Given the description of an element on the screen output the (x, y) to click on. 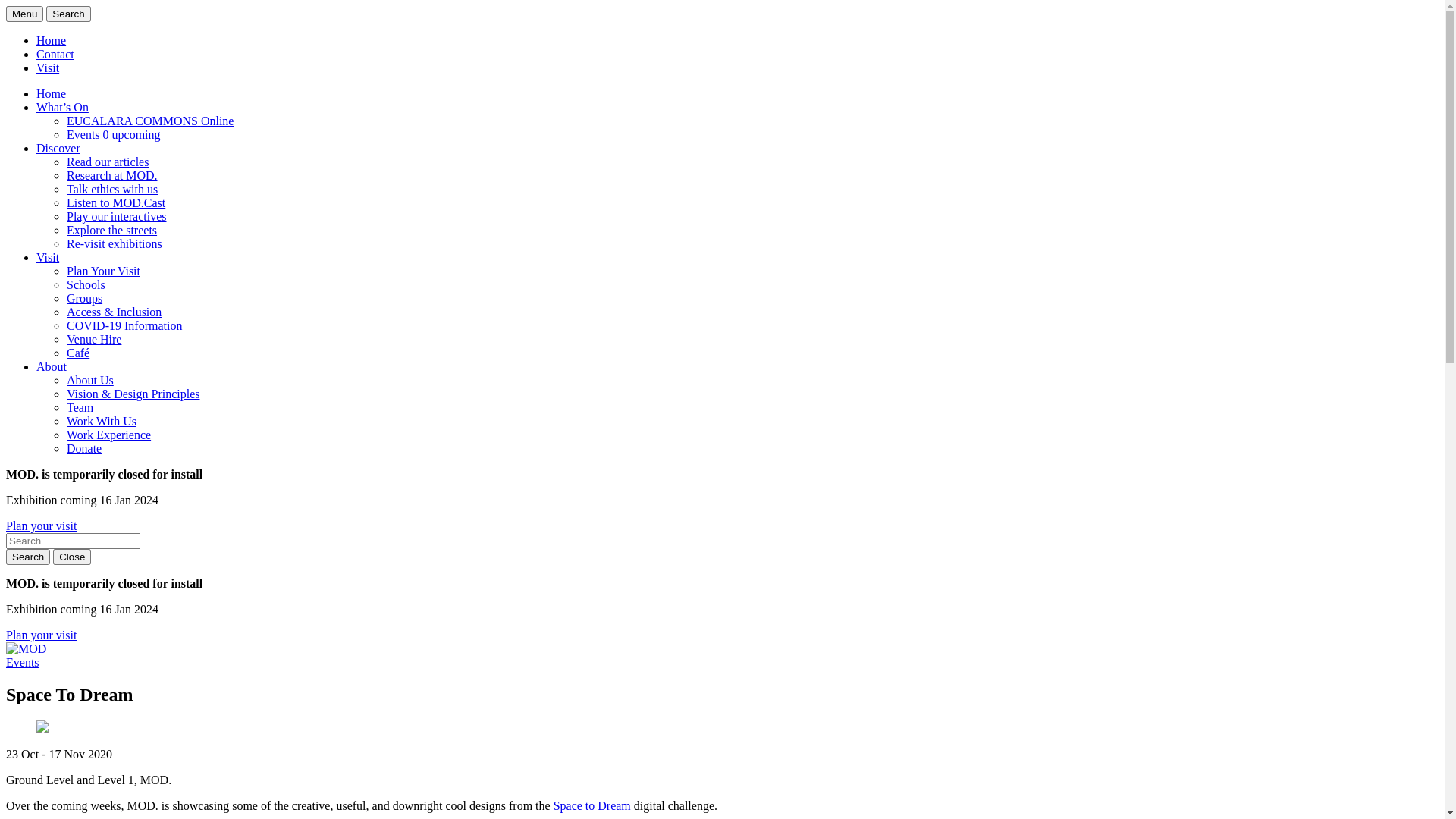
Close Element type: text (72, 556)
Venue Hire Element type: text (93, 338)
Visit Element type: text (47, 257)
Plan your visit Element type: text (41, 525)
Groups Element type: text (84, 297)
About Us Element type: text (89, 379)
Home Element type: text (50, 93)
Play our interactives Element type: text (116, 216)
Read our articles Element type: text (107, 161)
EUCALARA COMMONS Online Element type: text (149, 120)
Donate Element type: text (83, 448)
Schools Element type: text (85, 284)
Discover Element type: text (58, 147)
Re-visit exhibitions Element type: text (114, 243)
Home Element type: text (50, 40)
Contact Element type: text (55, 53)
About Element type: text (51, 366)
Listen to MOD.Cast Element type: text (115, 202)
Vision & Design Principles Element type: text (132, 393)
Visit Element type: text (47, 67)
Search Element type: text (68, 13)
Menu Element type: text (24, 13)
Research at MOD. Element type: text (111, 175)
Search Element type: text (28, 556)
Team Element type: text (79, 407)
Explore the streets Element type: text (111, 229)
Plan Your Visit Element type: text (103, 270)
Plan your visit Element type: text (41, 634)
Access & Inclusion Element type: text (113, 311)
Work With Us Element type: text (101, 420)
Events 0 upcoming Element type: text (113, 134)
Talk ethics with us Element type: text (111, 188)
COVID-19 Information Element type: text (124, 325)
Events Element type: text (22, 661)
Space to Dream Element type: text (591, 805)
Work Experience Element type: text (108, 434)
